Given the description of an element on the screen output the (x, y) to click on. 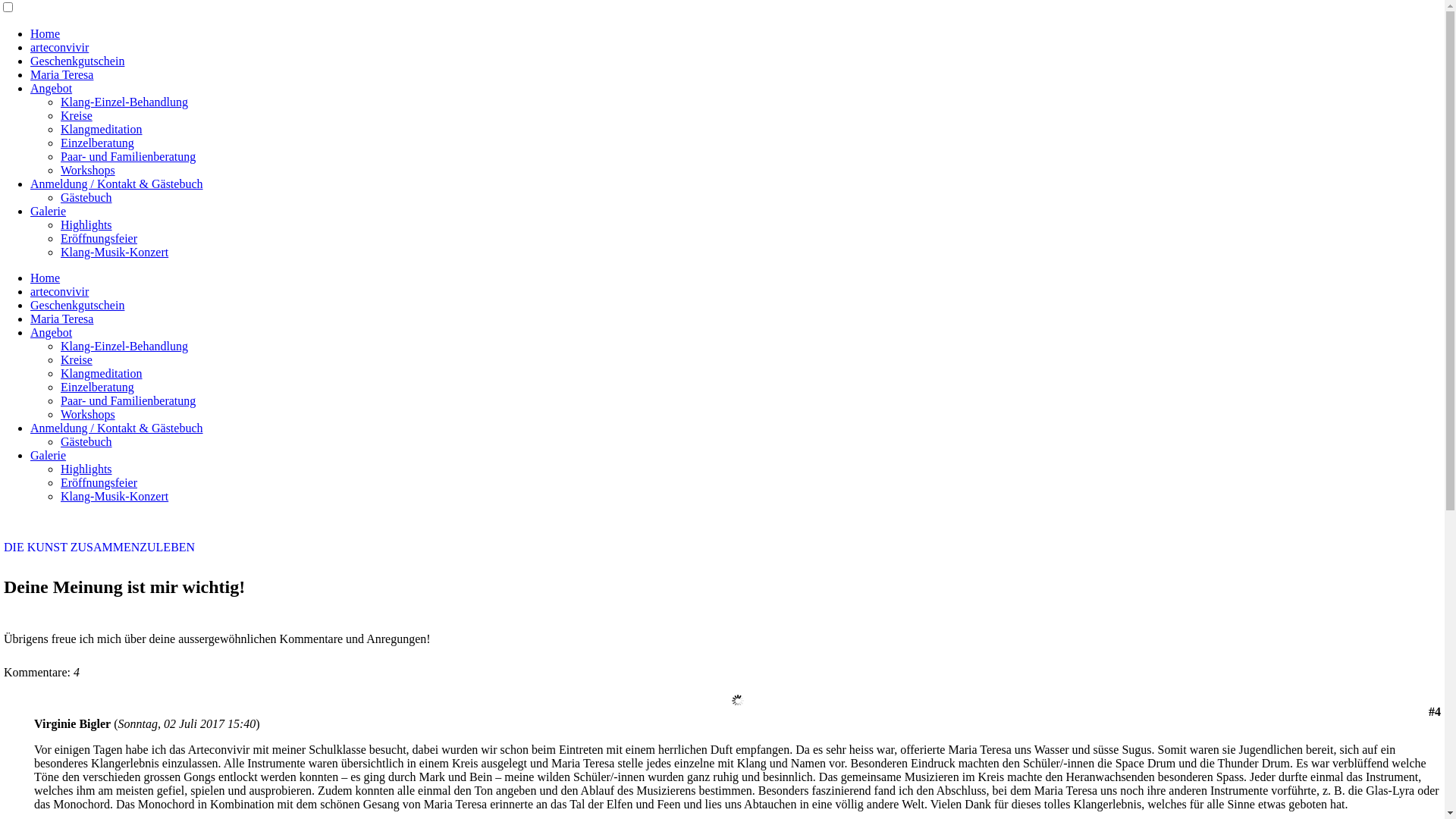
Galerie Element type: text (47, 210)
arteconvivir Element type: text (59, 46)
Maria Teresa Element type: text (61, 74)
Klang-Musik-Konzert Element type: text (114, 495)
Geschenkgutschein Element type: text (77, 304)
Home Element type: text (44, 33)
Paar- und Familienberatung Element type: text (127, 156)
Kreise Element type: text (76, 359)
Kreise Element type: text (76, 115)
Highlights Element type: text (86, 468)
Workshops Element type: text (87, 413)
Geschenkgutschein Element type: text (77, 60)
Klang-Einzel-Behandlung Element type: text (124, 101)
Paar- und Familienberatung Element type: text (127, 400)
Angebot Element type: text (51, 332)
Einzelberatung Element type: text (97, 386)
Klang-Musik-Konzert Element type: text (114, 251)
Klangmeditation Element type: text (101, 128)
Klangmeditation Element type: text (101, 373)
Galerie Element type: text (47, 454)
arteconvivir Element type: text (59, 291)
Home Element type: text (44, 277)
Angebot Element type: text (51, 87)
DIE KUNST ZUSAMMENZULEBEN Element type: text (721, 547)
Workshops Element type: text (87, 169)
Highlights Element type: text (86, 224)
Maria Teresa Element type: text (61, 318)
Einzelberatung Element type: text (97, 142)
Klang-Einzel-Behandlung Element type: text (124, 345)
